Given the description of an element on the screen output the (x, y) to click on. 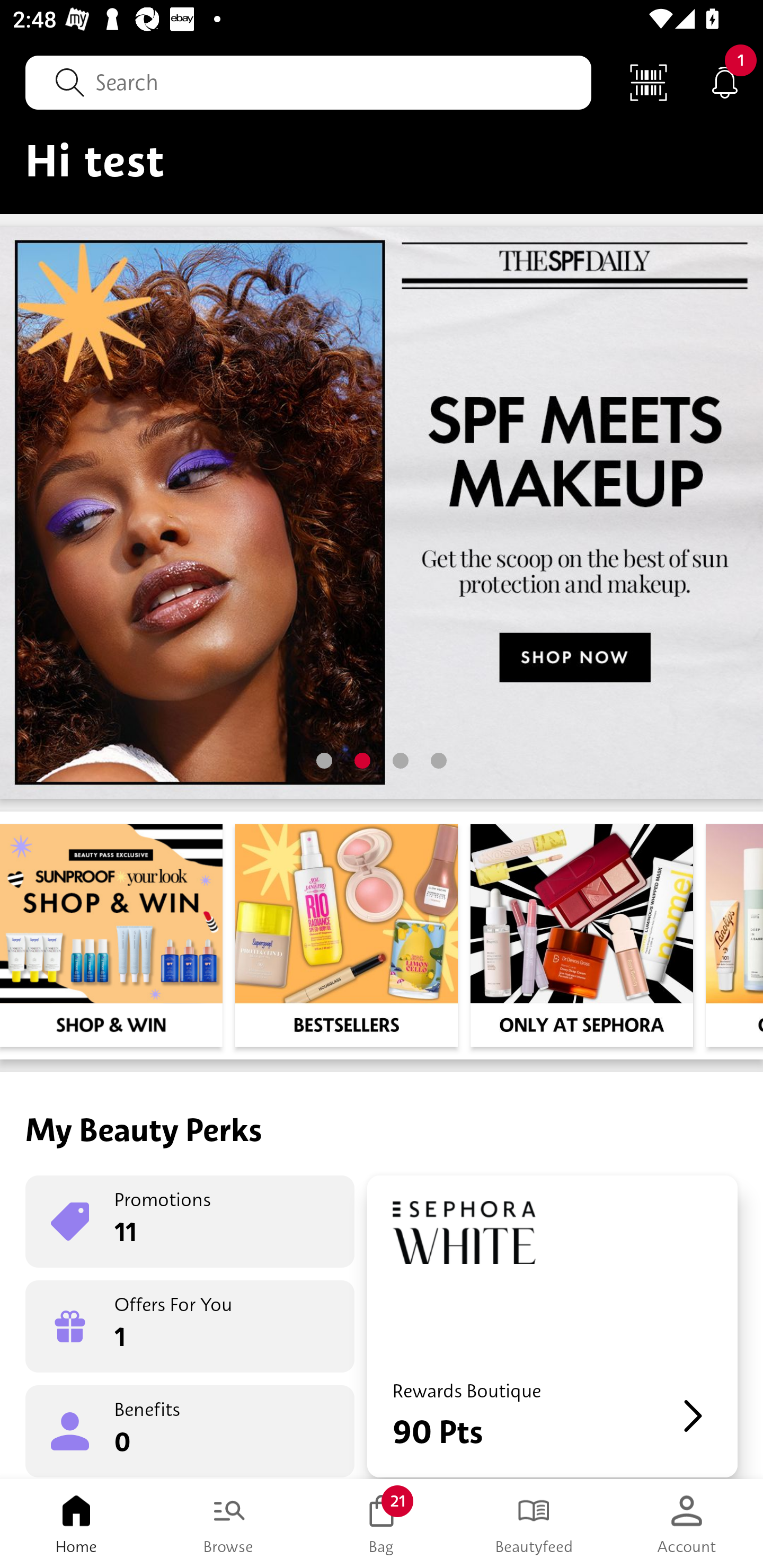
Scan Code (648, 81)
Notifications (724, 81)
Search (308, 81)
Promotions 11 (189, 1221)
Rewards Boutique 90 Pts (552, 1326)
Offers For You 1 (189, 1326)
Benefits 0 (189, 1430)
Browse (228, 1523)
Bag 21 Bag (381, 1523)
Beautyfeed (533, 1523)
Account (686, 1523)
